Given the description of an element on the screen output the (x, y) to click on. 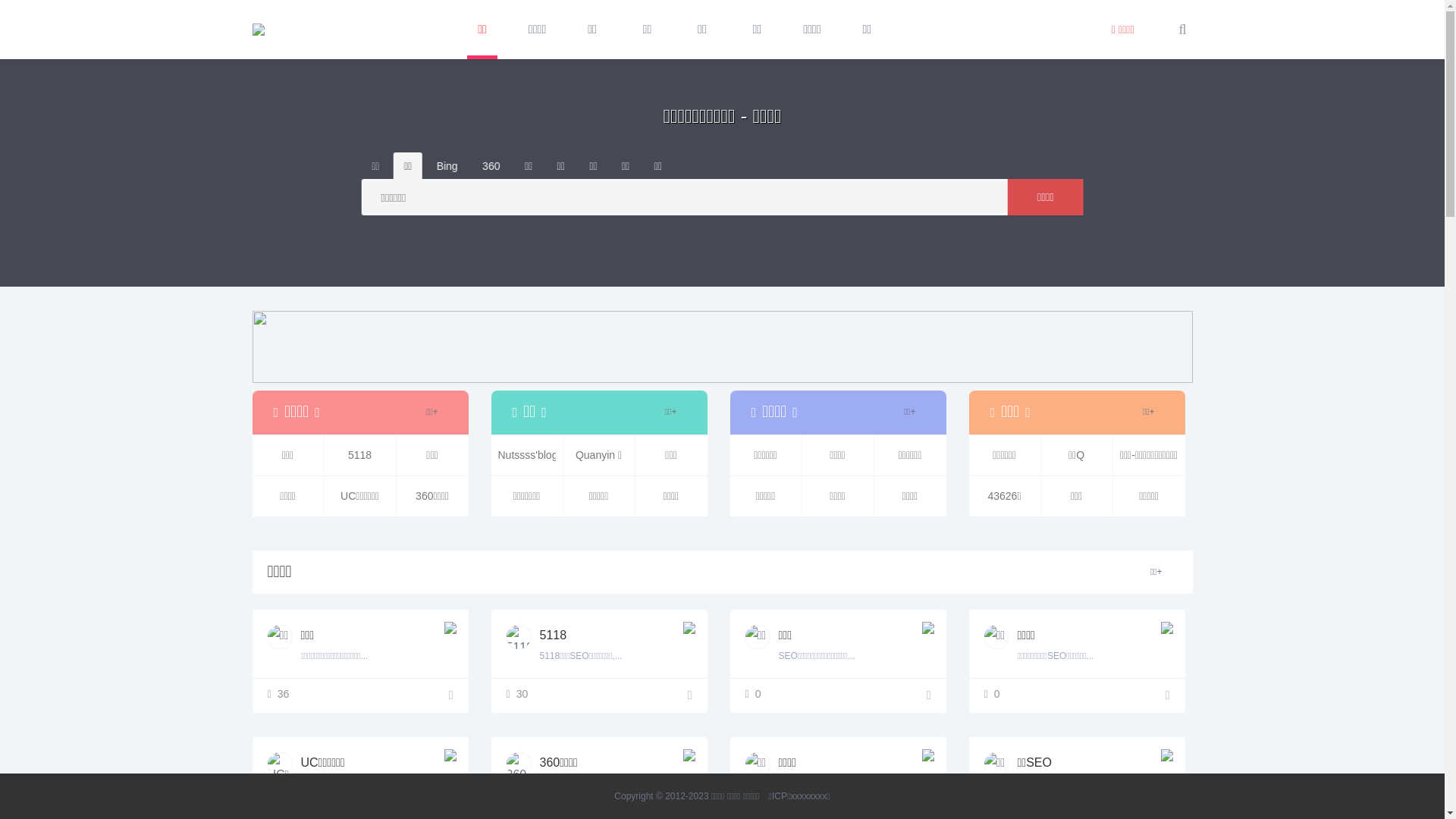
5118 Element type: hover (689, 695)
Nutssss'blog Element type: text (526, 455)
5118 Element type: text (359, 455)
5118 Element type: hover (518, 636)
